Given the description of an element on the screen output the (x, y) to click on. 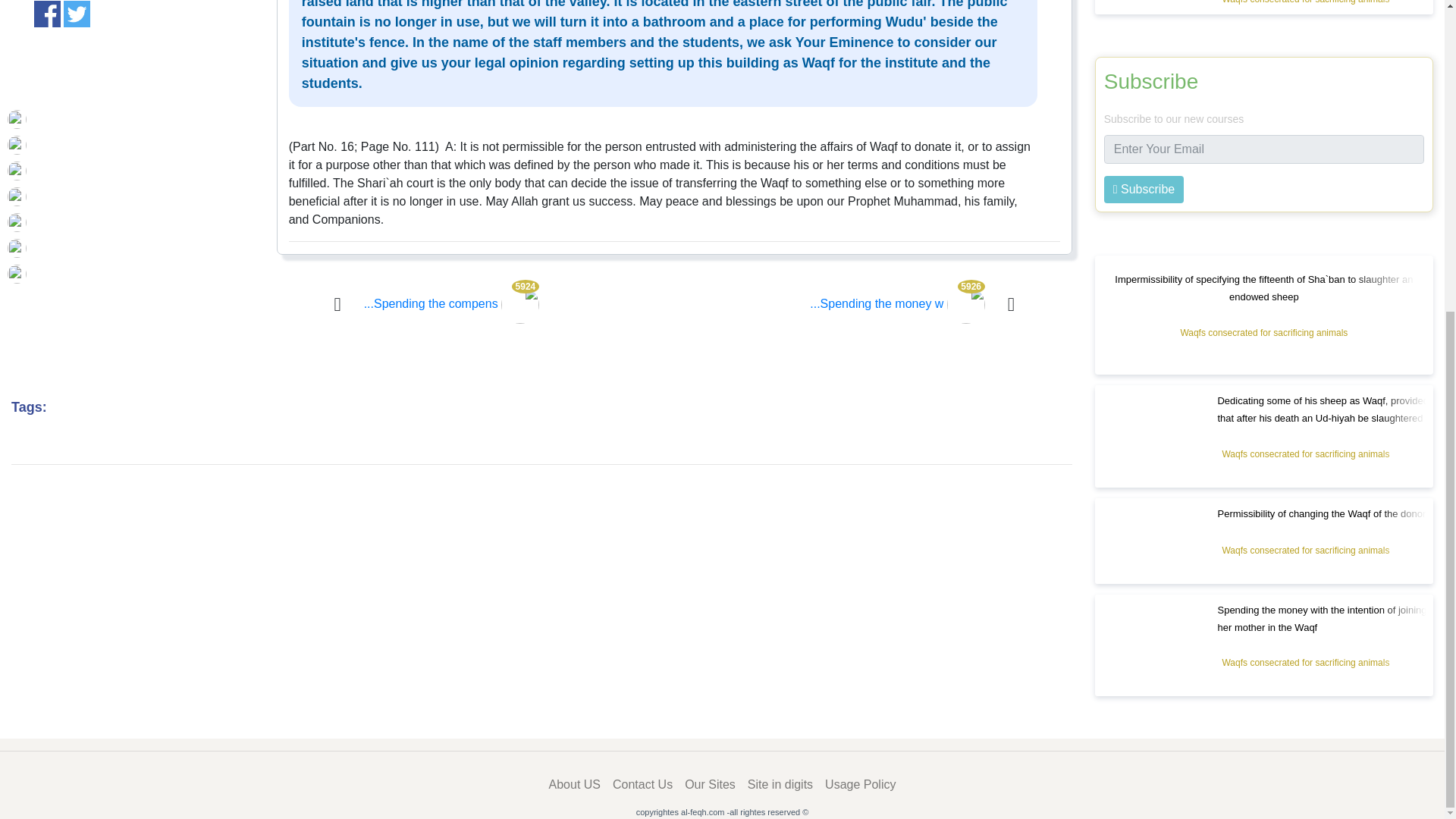
Waqfs consecrated for sacrificing animals (1305, 3)
